Given the description of an element on the screen output the (x, y) to click on. 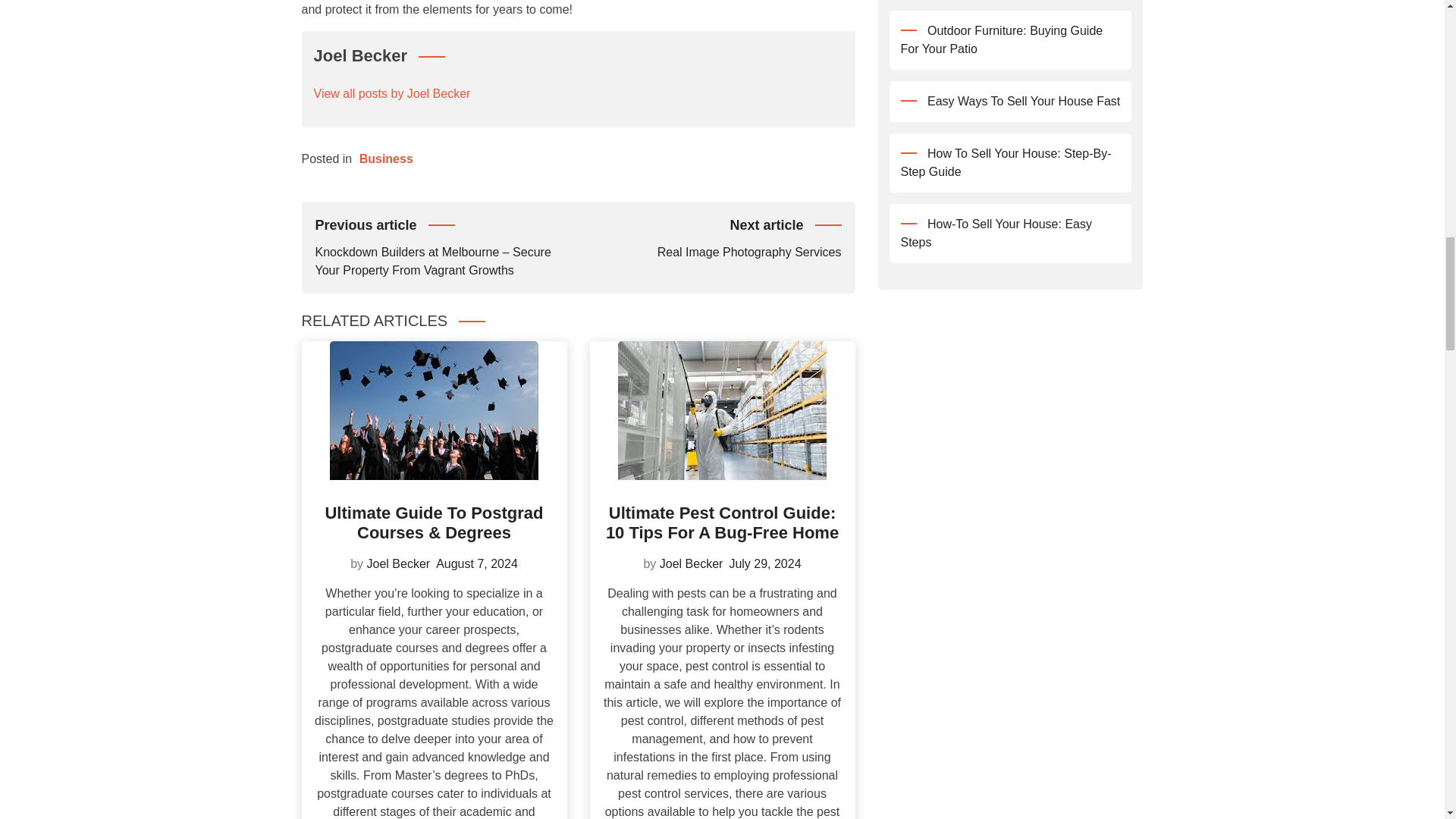
Joel Becker (691, 563)
July 29, 2024 (764, 563)
Business (386, 158)
August 7, 2024 (476, 563)
Ultimate Pest Control Guide: 10 Tips For A Bug-Free Home (721, 522)
Joel Becker (709, 236)
View all posts by Joel Becker (398, 563)
